Given the description of an element on the screen output the (x, y) to click on. 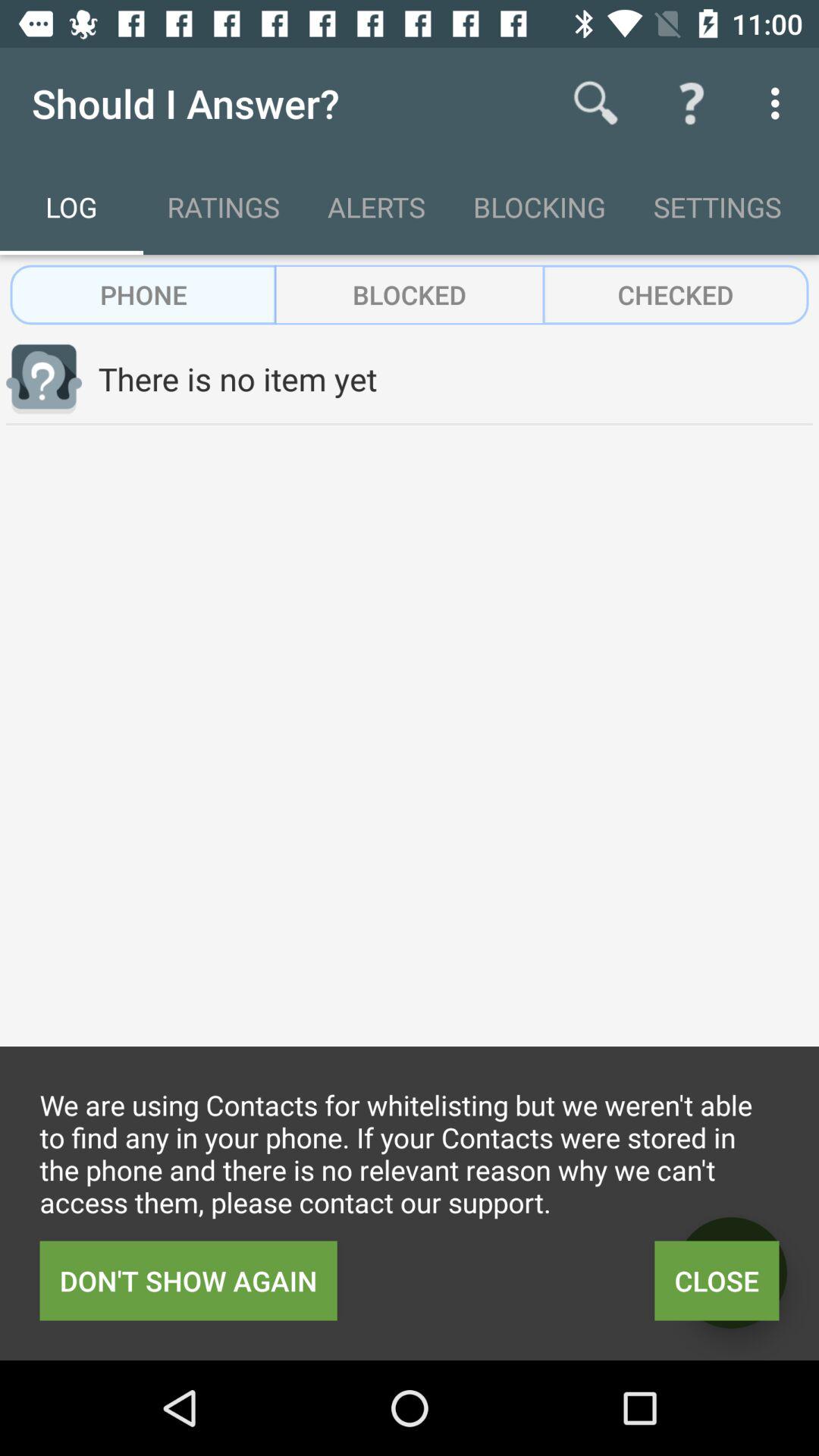
swipe to the blocked (409, 294)
